Given the description of an element on the screen output the (x, y) to click on. 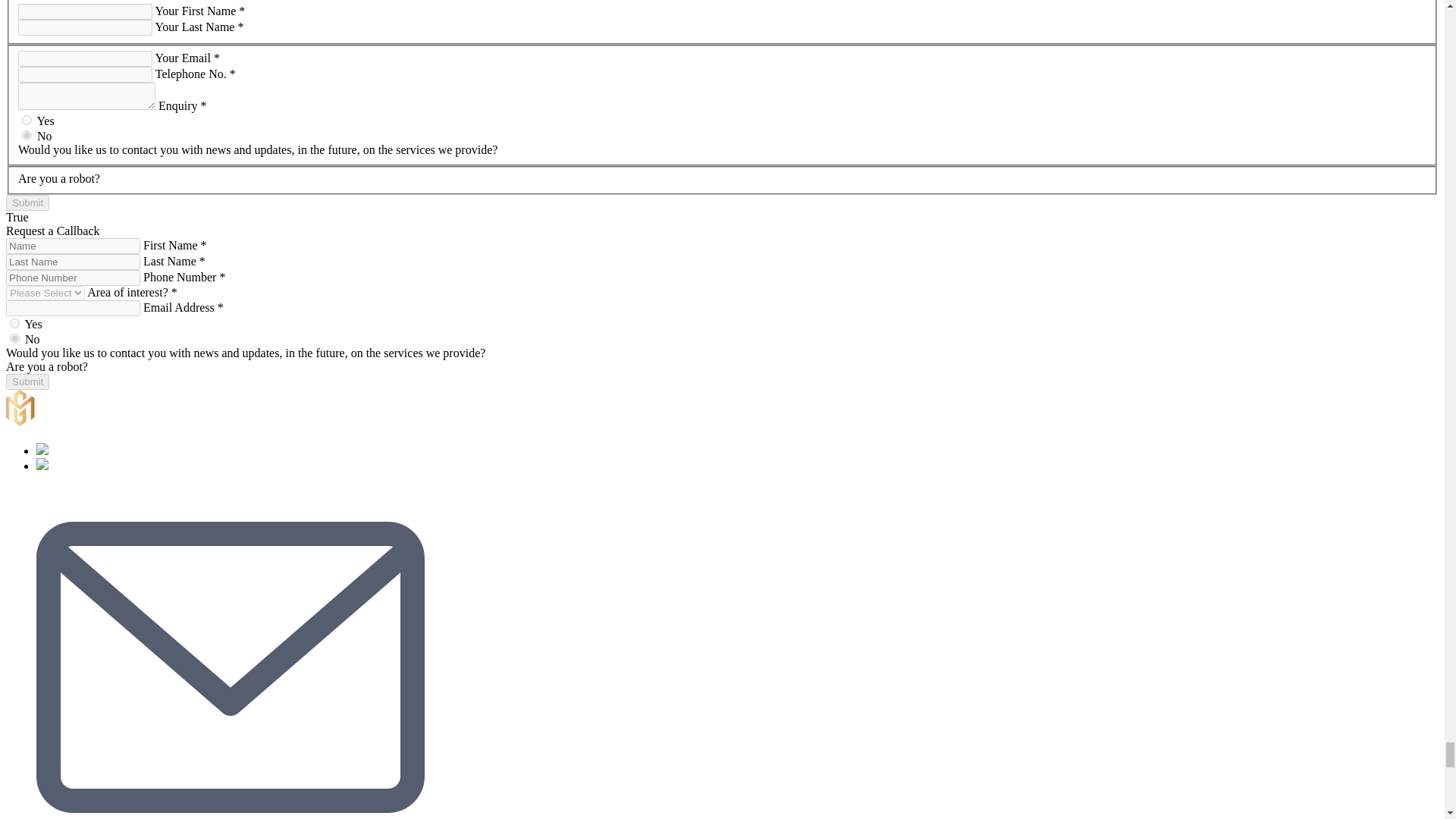
No (26, 135)
Yes (26, 120)
